Given the description of an element on the screen output the (x, y) to click on. 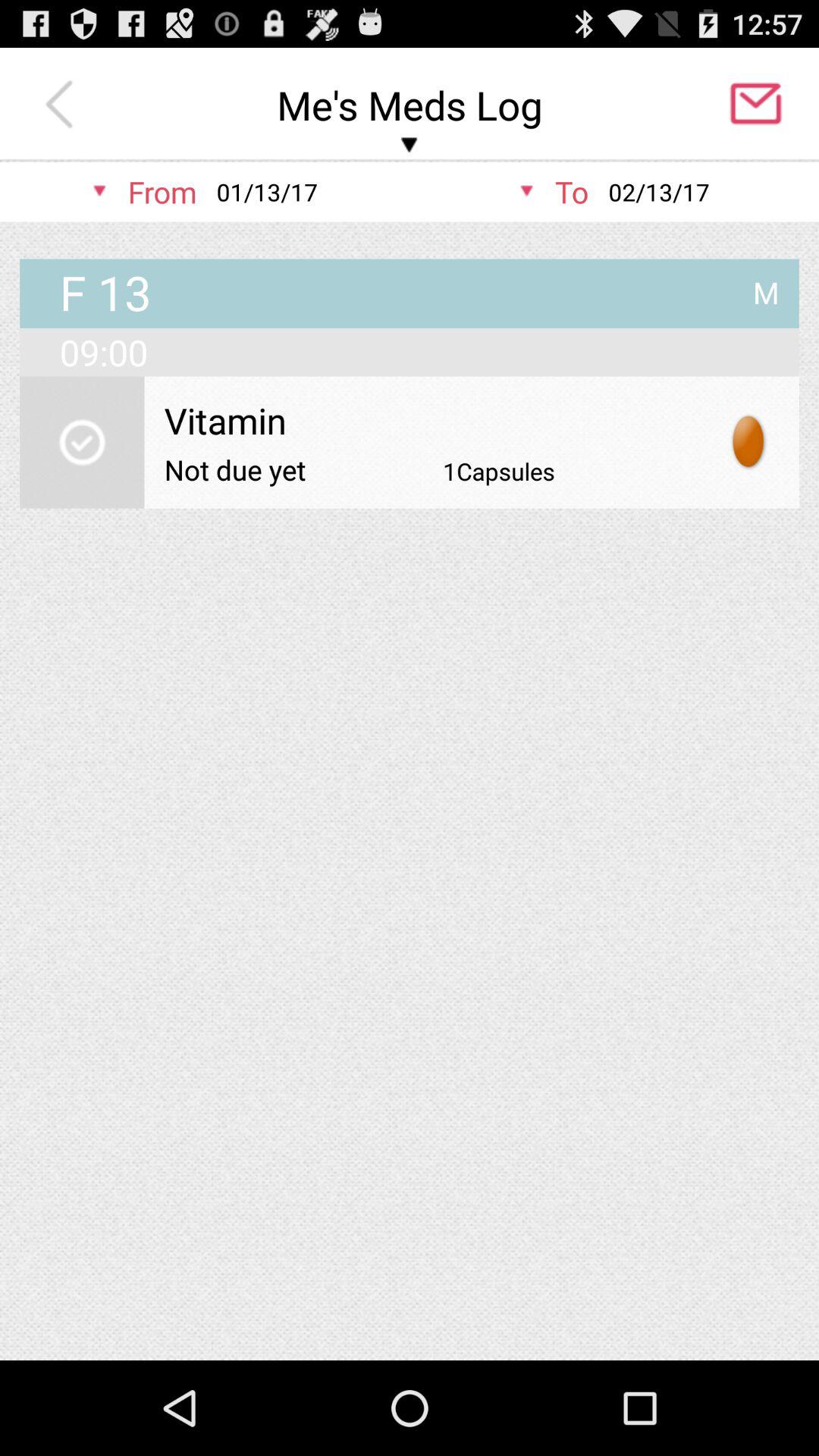
scroll to not due yet (234, 469)
